Given the description of an element on the screen output the (x, y) to click on. 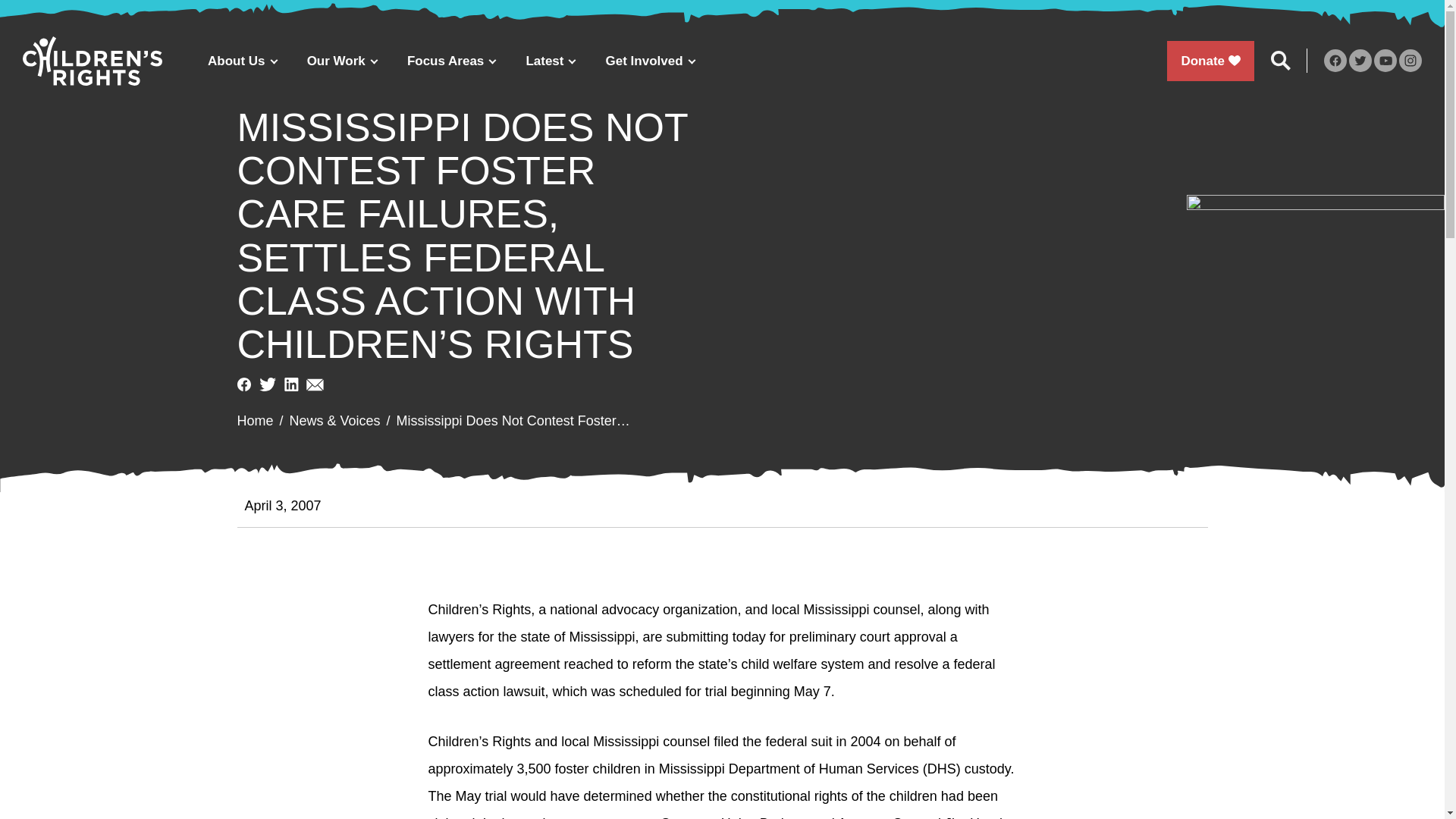
homepage (92, 60)
Latest (550, 60)
Share by Email (314, 384)
Donate (1210, 60)
Our Work (341, 60)
Share to Twitter (267, 384)
Focus Areas (451, 60)
Share to Facebook (242, 384)
About Us (242, 60)
Share to LinkedIn (290, 384)
Get Involved (650, 60)
